Given the description of an element on the screen output the (x, y) to click on. 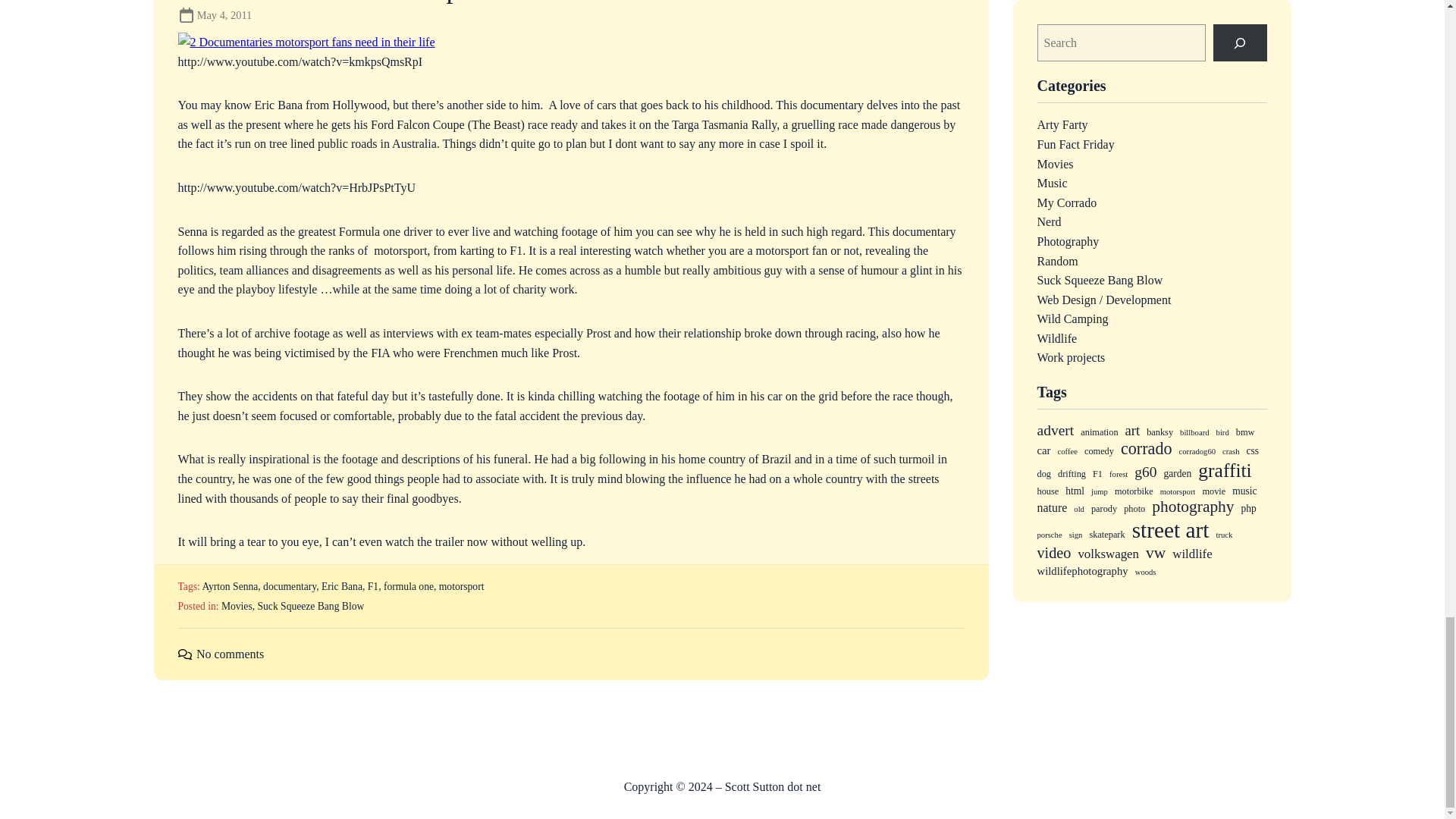
comments (183, 654)
